Given the description of an element on the screen output the (x, y) to click on. 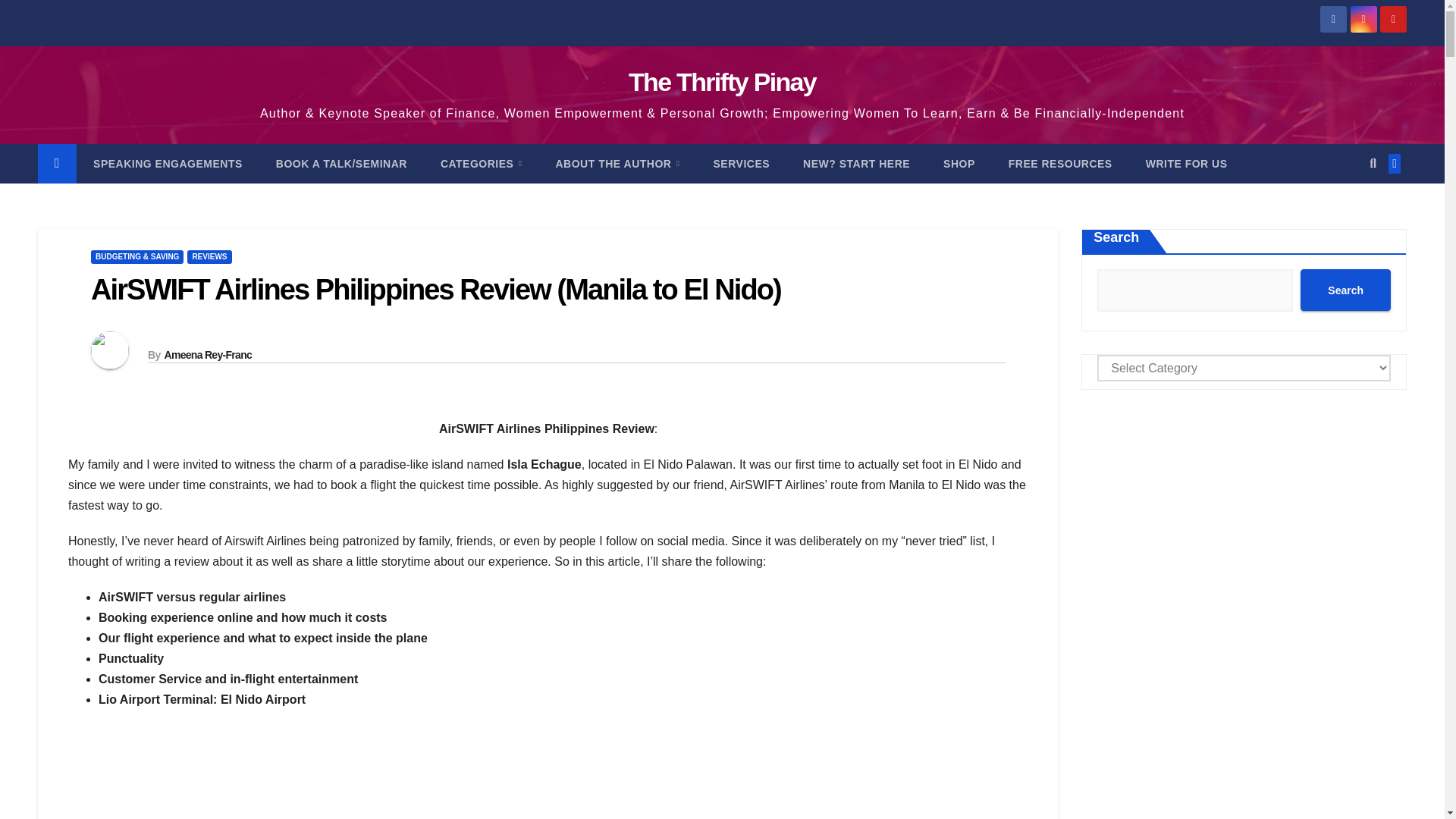
The Thrifty Pinay (721, 81)
REVIEWS (209, 256)
Ameena Rey-Franc (207, 354)
NEW? START HERE (856, 163)
WRITE FOR US (1186, 163)
Shop (958, 163)
Speaking Engagements (168, 163)
ABOUT THE AUTHOR (616, 163)
FREE RESOURCES (1060, 163)
SERVICES (742, 163)
